Given the description of an element on the screen output the (x, y) to click on. 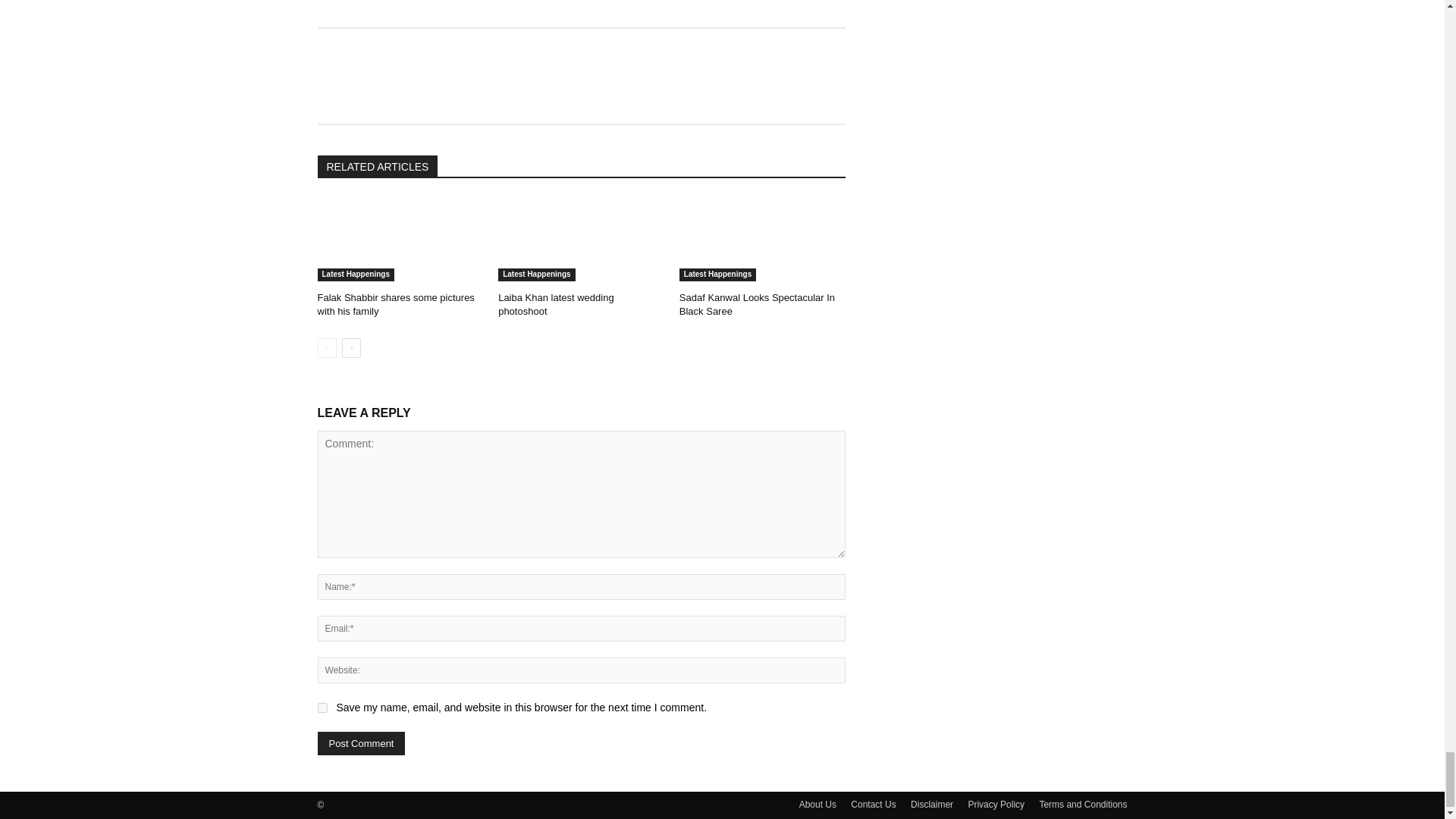
Latest Happenings (355, 274)
Falak Shabbir shares some pictures with his family (395, 303)
Falak Shabbir shares some pictures with his family (400, 239)
Laiba Khan latest wedding  photoshoot (580, 239)
Post Comment (360, 743)
yes (321, 707)
